Given the description of an element on the screen output the (x, y) to click on. 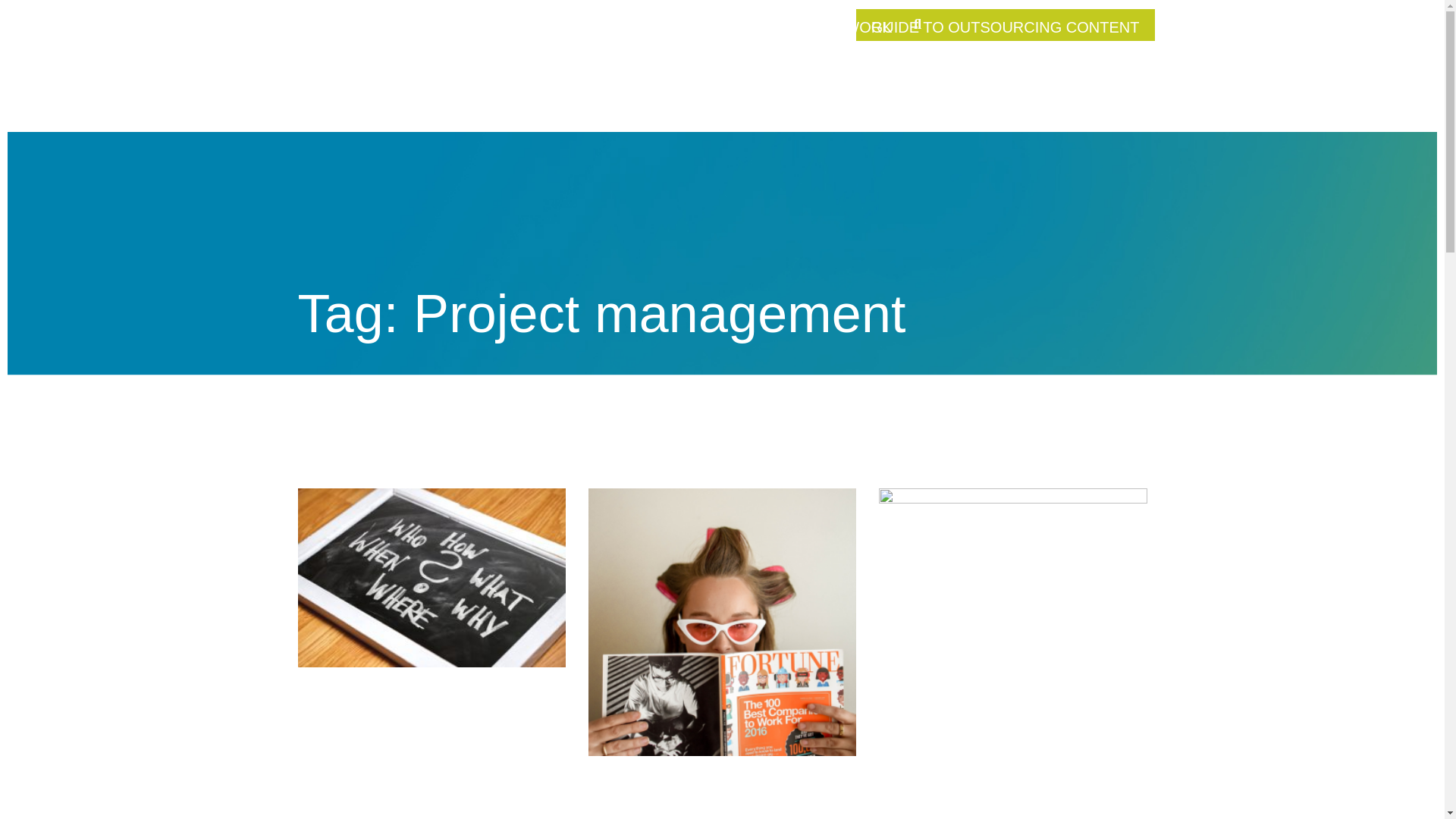
SERVICES (628, 27)
RESOURCES (747, 81)
CONTACT (856, 81)
GUIDE TO OUTSOURCING CONTENT (1005, 24)
INDUSTRIES (736, 27)
OUR WORK (849, 27)
ABOUT (539, 27)
